Given the description of an element on the screen output the (x, y) to click on. 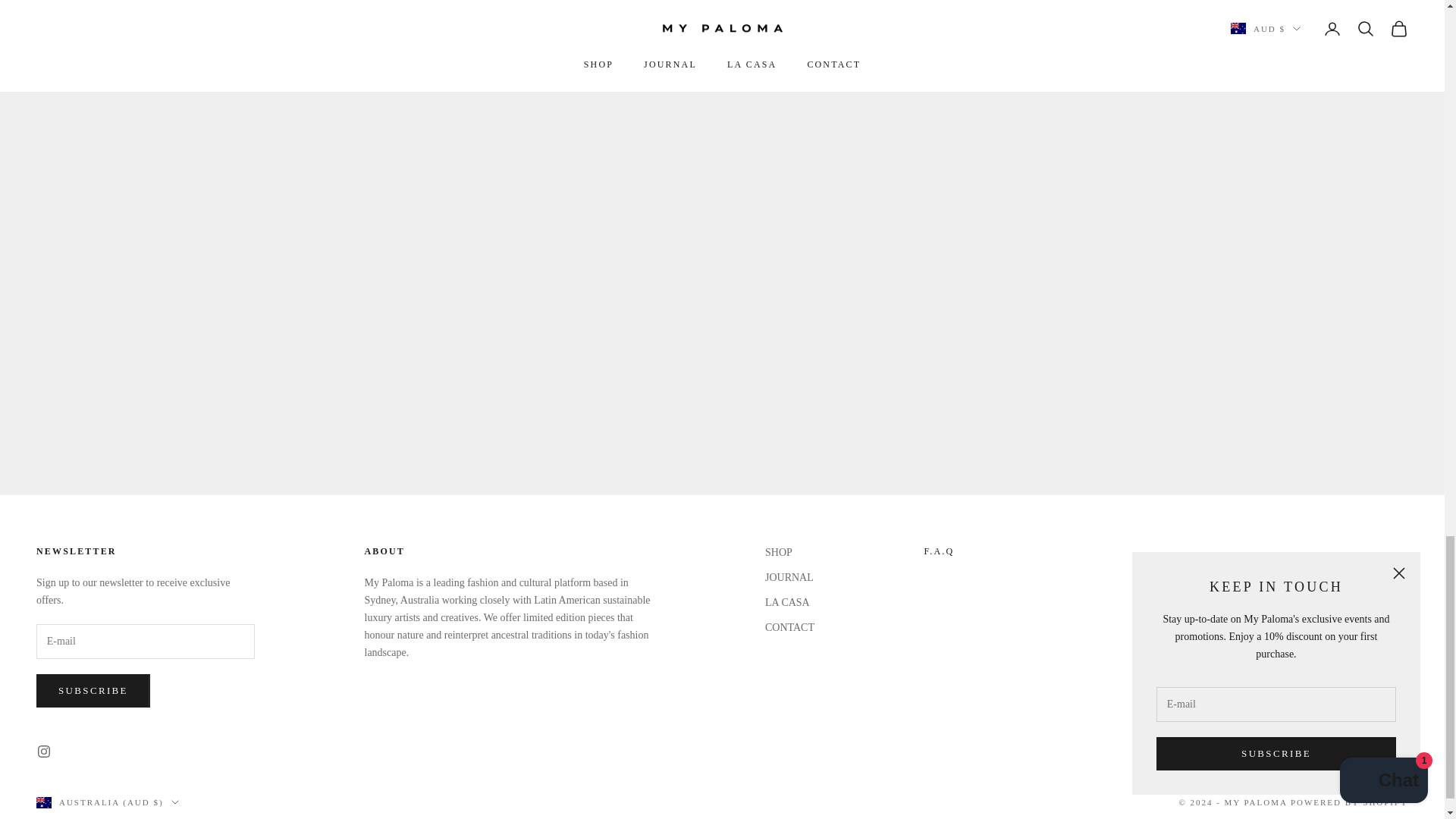
CONTACT (938, 551)
